Given the description of an element on the screen output the (x, y) to click on. 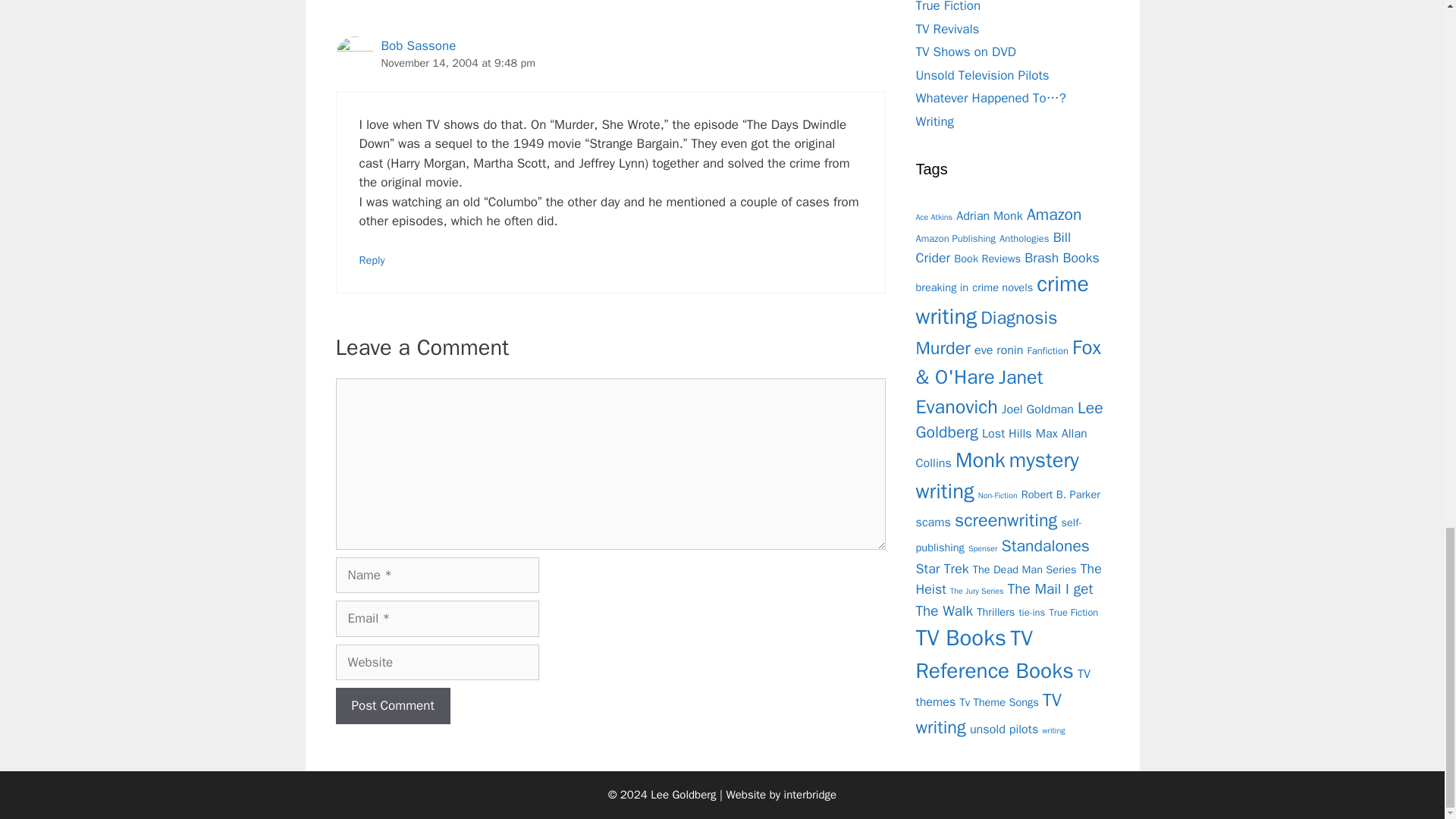
Post Comment (391, 705)
